Given the description of an element on the screen output the (x, y) to click on. 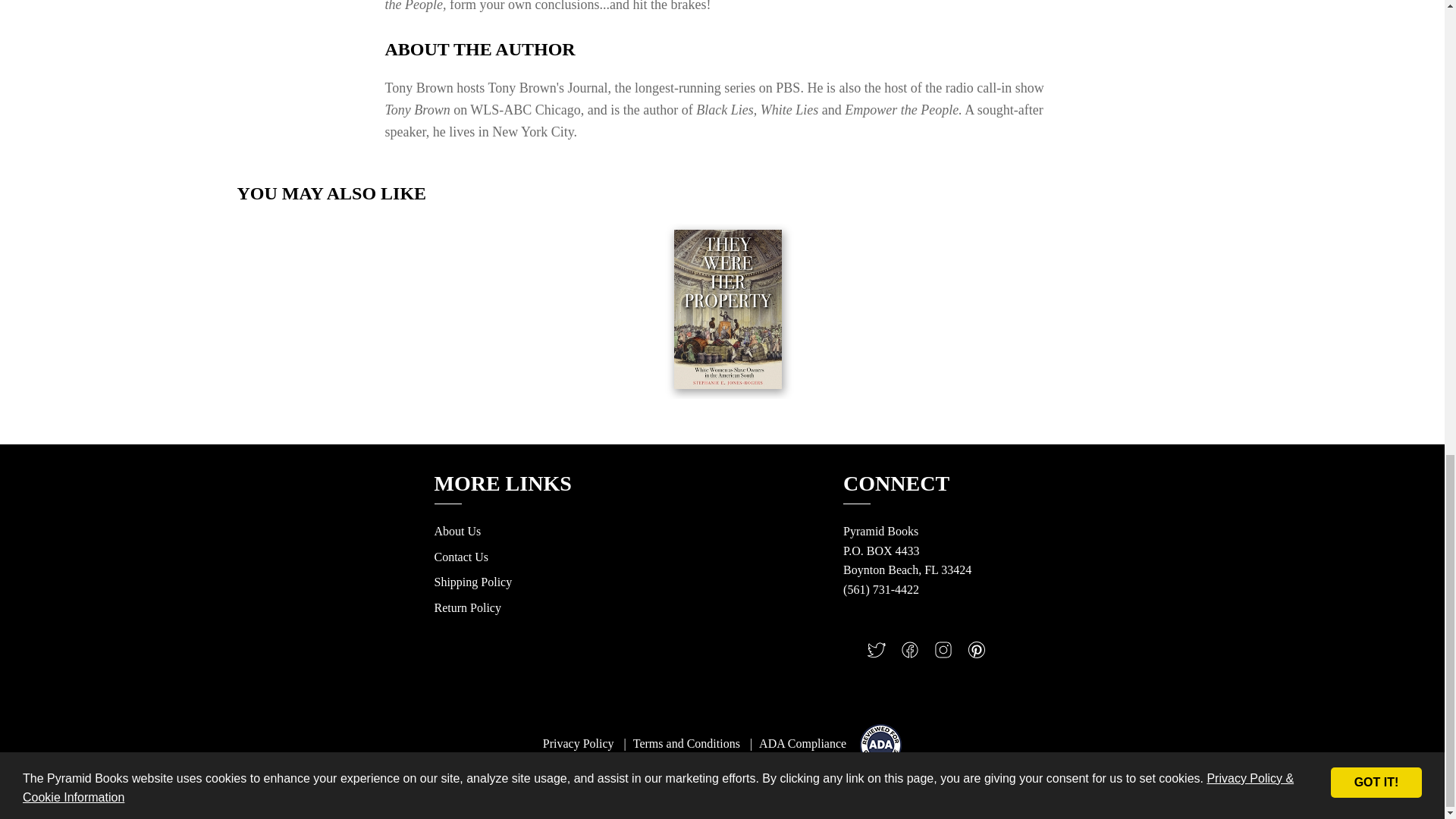
About Us (456, 530)
Connect with Facebook (909, 653)
Connect with Twitter (876, 653)
Connect with Pinterest (976, 653)
Connect with Instagram (943, 653)
